Given the description of an element on the screen output the (x, y) to click on. 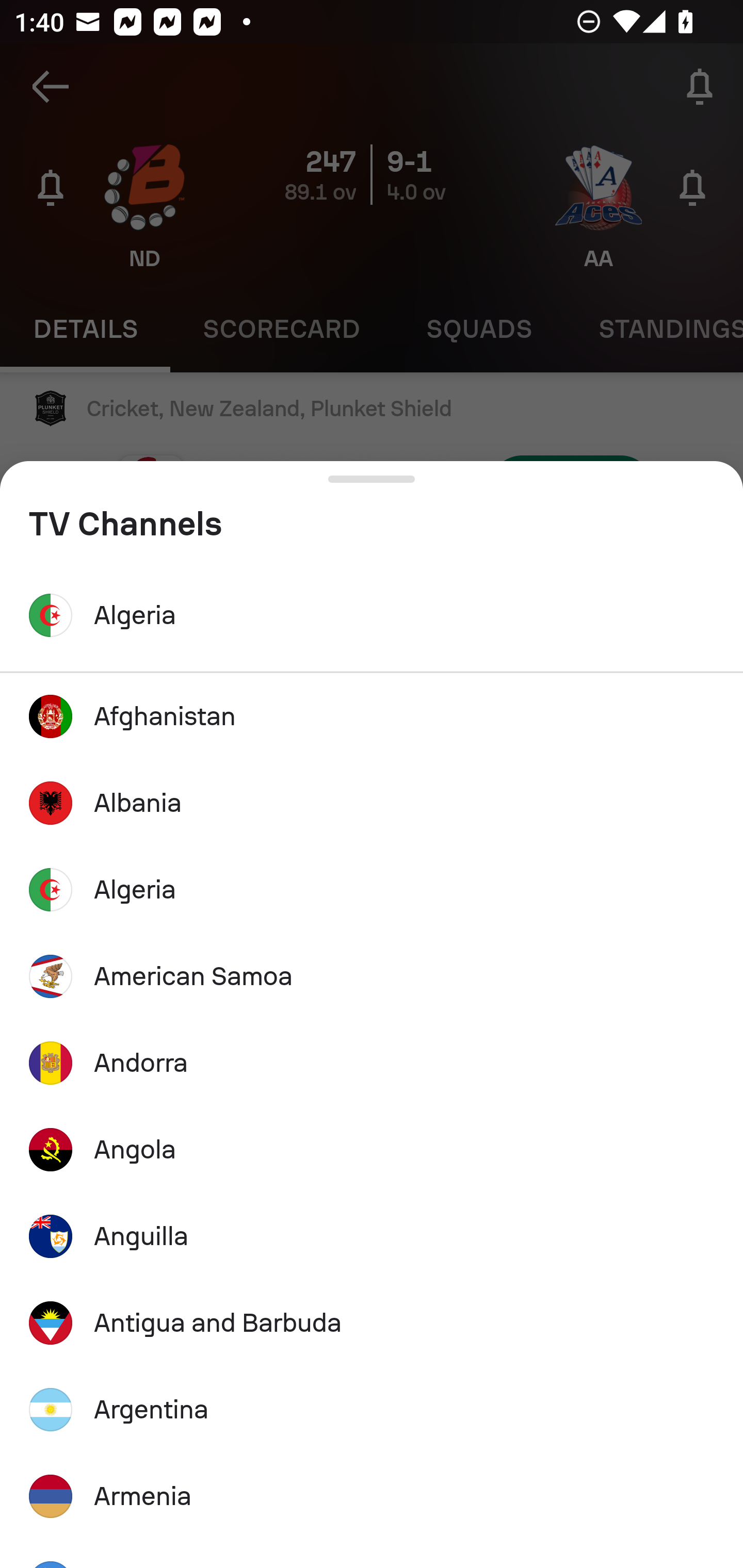
Algeria (371, 615)
Afghanistan (371, 716)
Albania (371, 803)
Algeria (371, 889)
American Samoa (371, 975)
Andorra (371, 1063)
Angola (371, 1150)
Anguilla (371, 1236)
Antigua and Barbuda (371, 1322)
Argentina (371, 1409)
Armenia (371, 1496)
